Given the description of an element on the screen output the (x, y) to click on. 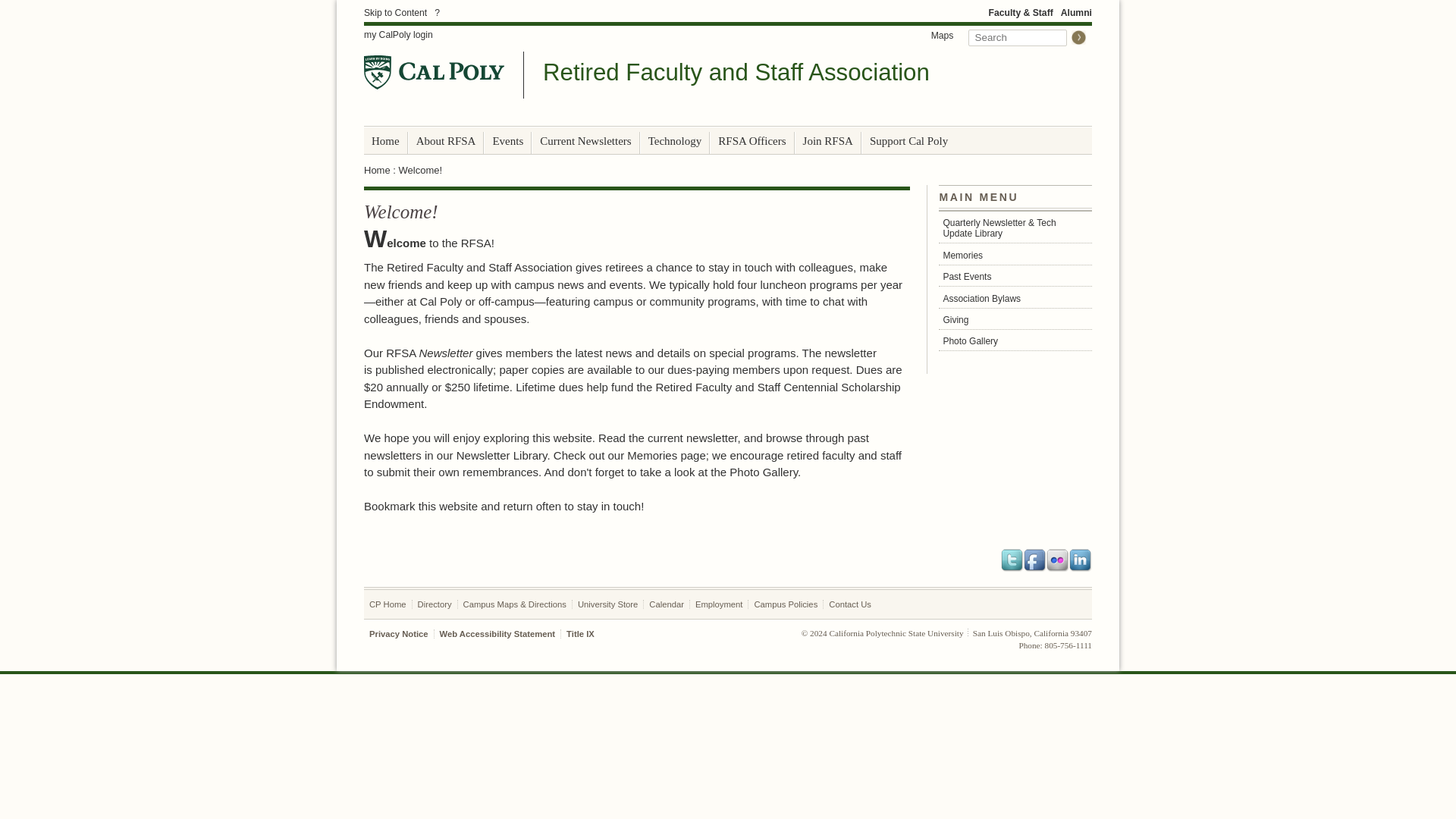
my CalPoly login (398, 34)
Maps (943, 35)
my CalPoly login (398, 34)
Skip to Content (395, 12)
Search Form (1027, 36)
skip to content (395, 12)
Go to Cal Poly Home (433, 72)
Alumni (1076, 12)
Search this site (1017, 37)
Submit Search Query (1078, 37)
